Given the description of an element on the screen output the (x, y) to click on. 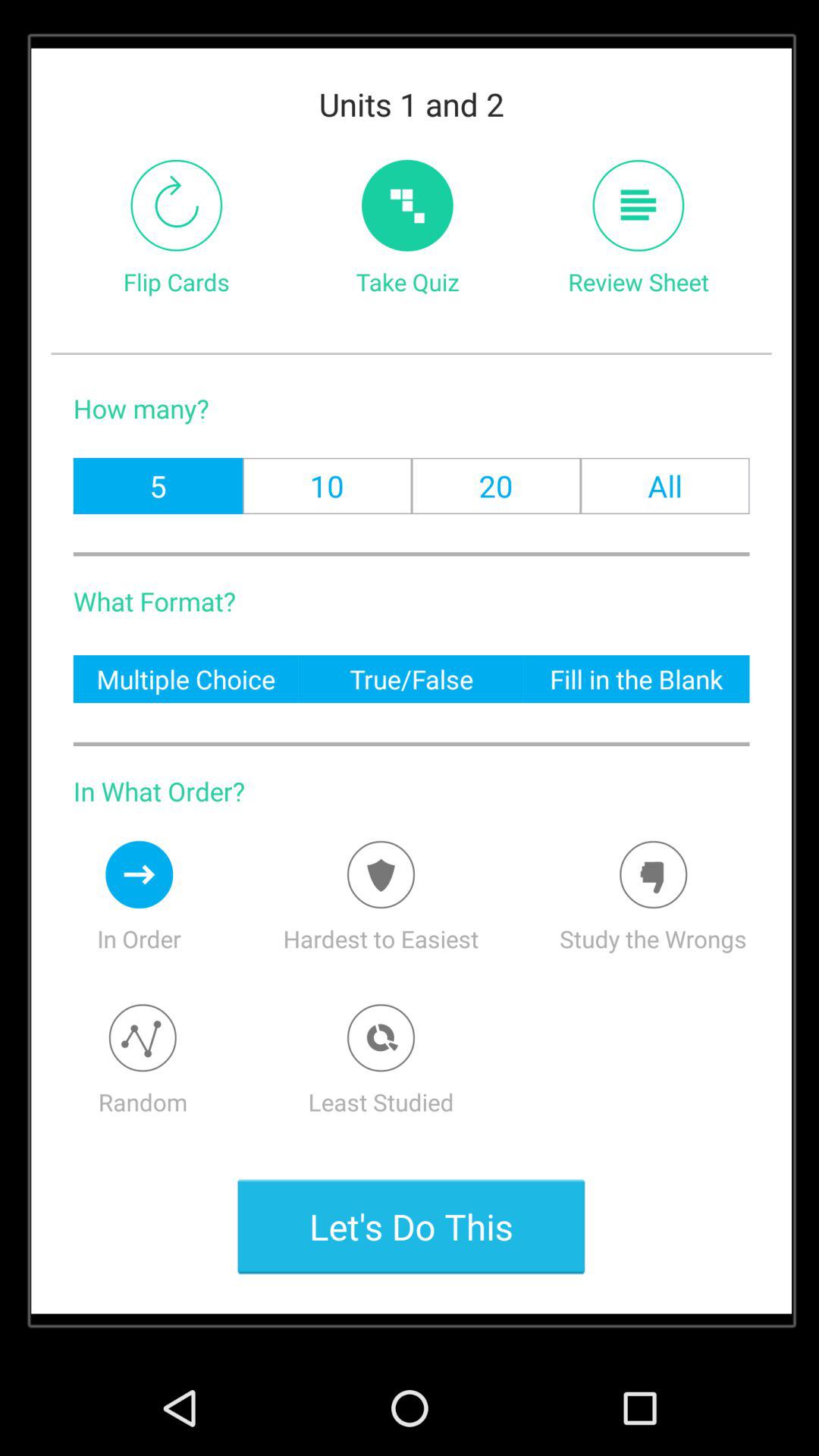
choose icon to the right of the true/false icon (636, 678)
